Given the description of an element on the screen output the (x, y) to click on. 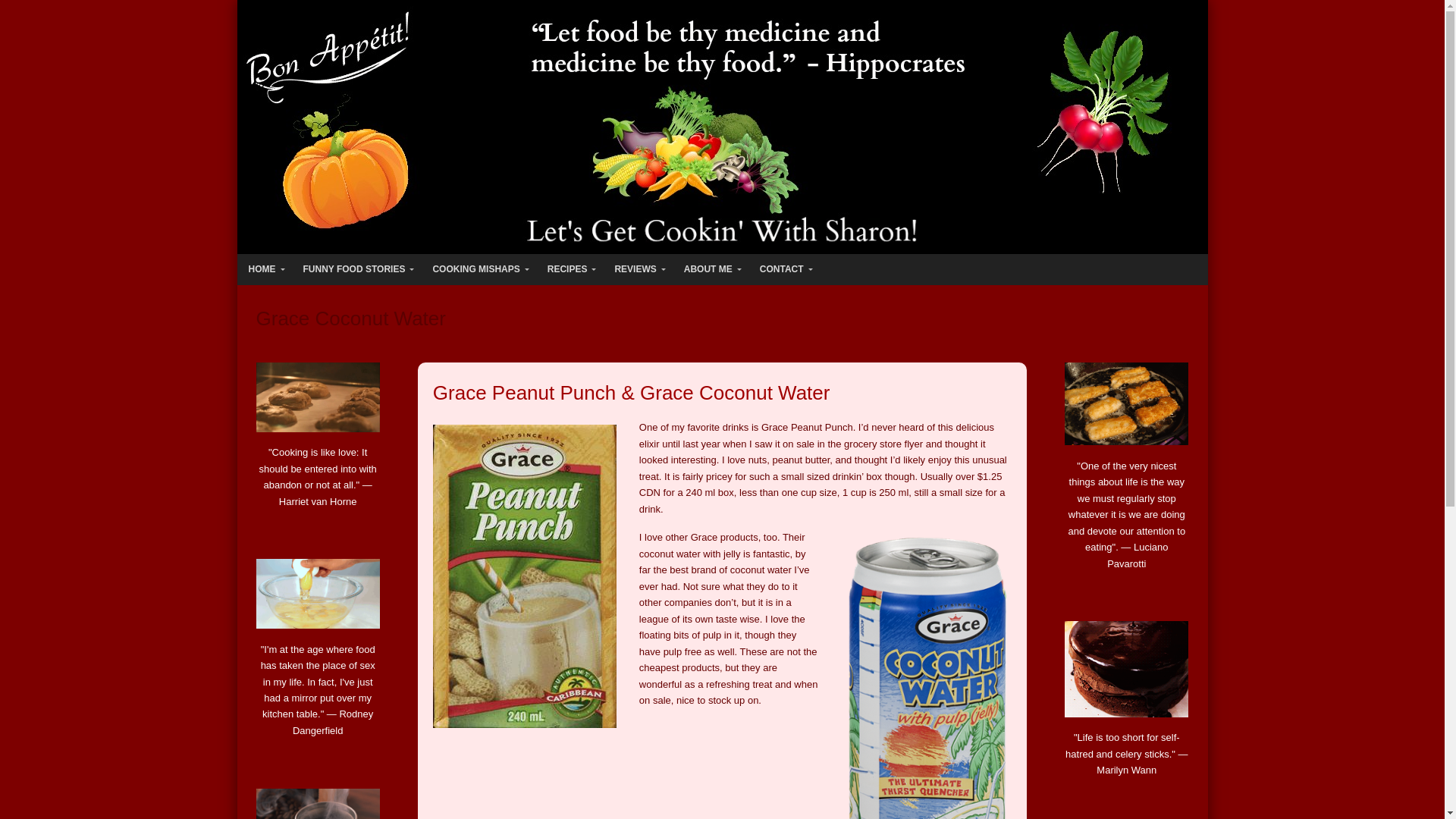
HOME (262, 269)
ABOUT ME (709, 269)
COOKING MISHAPS (477, 269)
CONTACT (783, 269)
RECIPES (568, 269)
REVIEWS (636, 269)
FUNNY FOOD STORIES (355, 269)
